Given the description of an element on the screen output the (x, y) to click on. 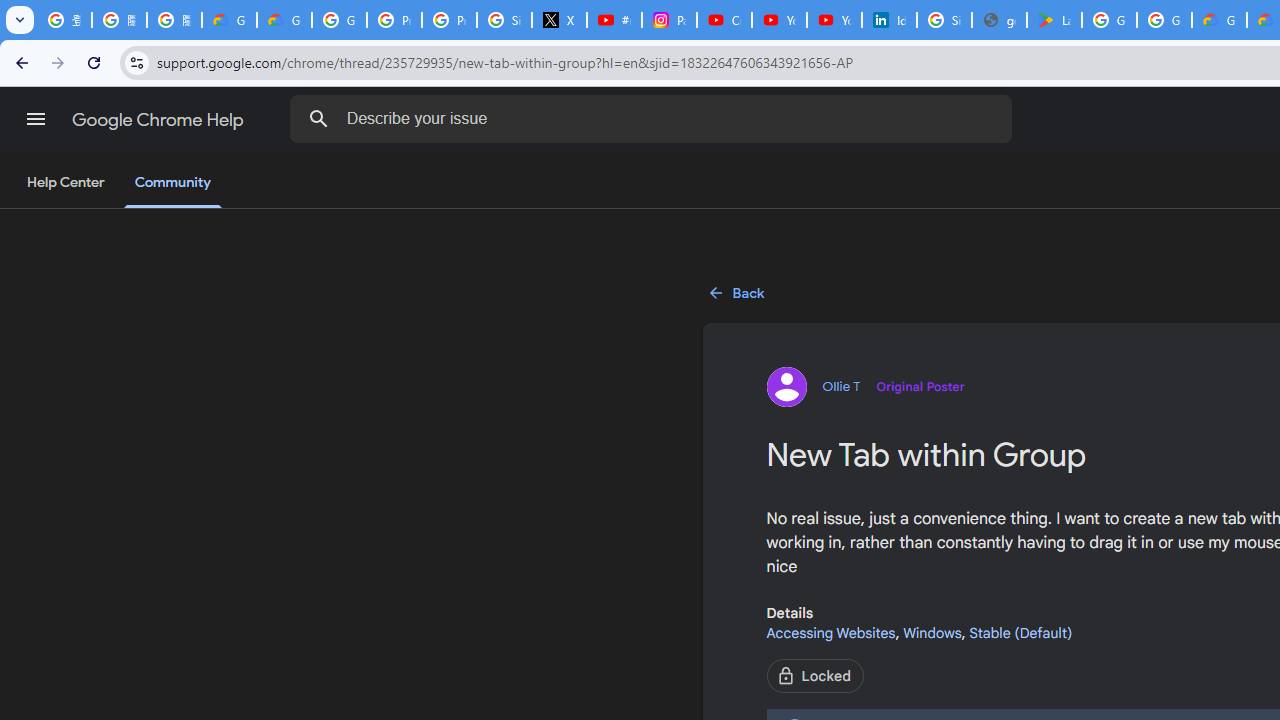
Accessing Websites (830, 632)
Last Shelter: Survival - Apps on Google Play (1053, 20)
Windows (932, 632)
X (559, 20)
Google Workspace - Specific Terms (1163, 20)
YouTube Culture & Trends - YouTube Top 10, 2021 (833, 20)
Help Center (65, 183)
